Given the description of an element on the screen output the (x, y) to click on. 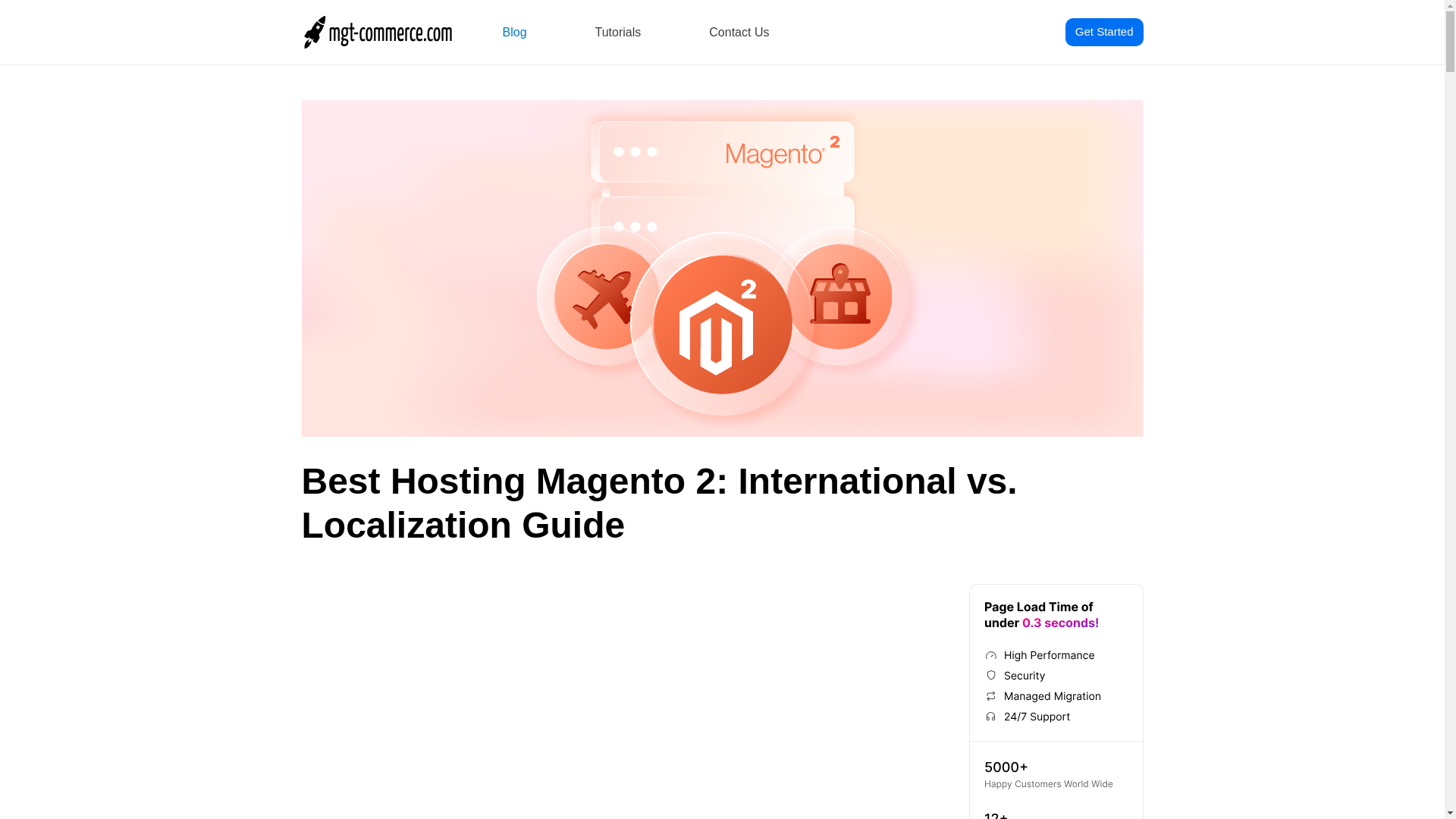
Get Started (1103, 31)
Contact Us (738, 31)
Blog (514, 31)
Magento Hosting (1055, 780)
Tutorials (618, 31)
